Given the description of an element on the screen output the (x, y) to click on. 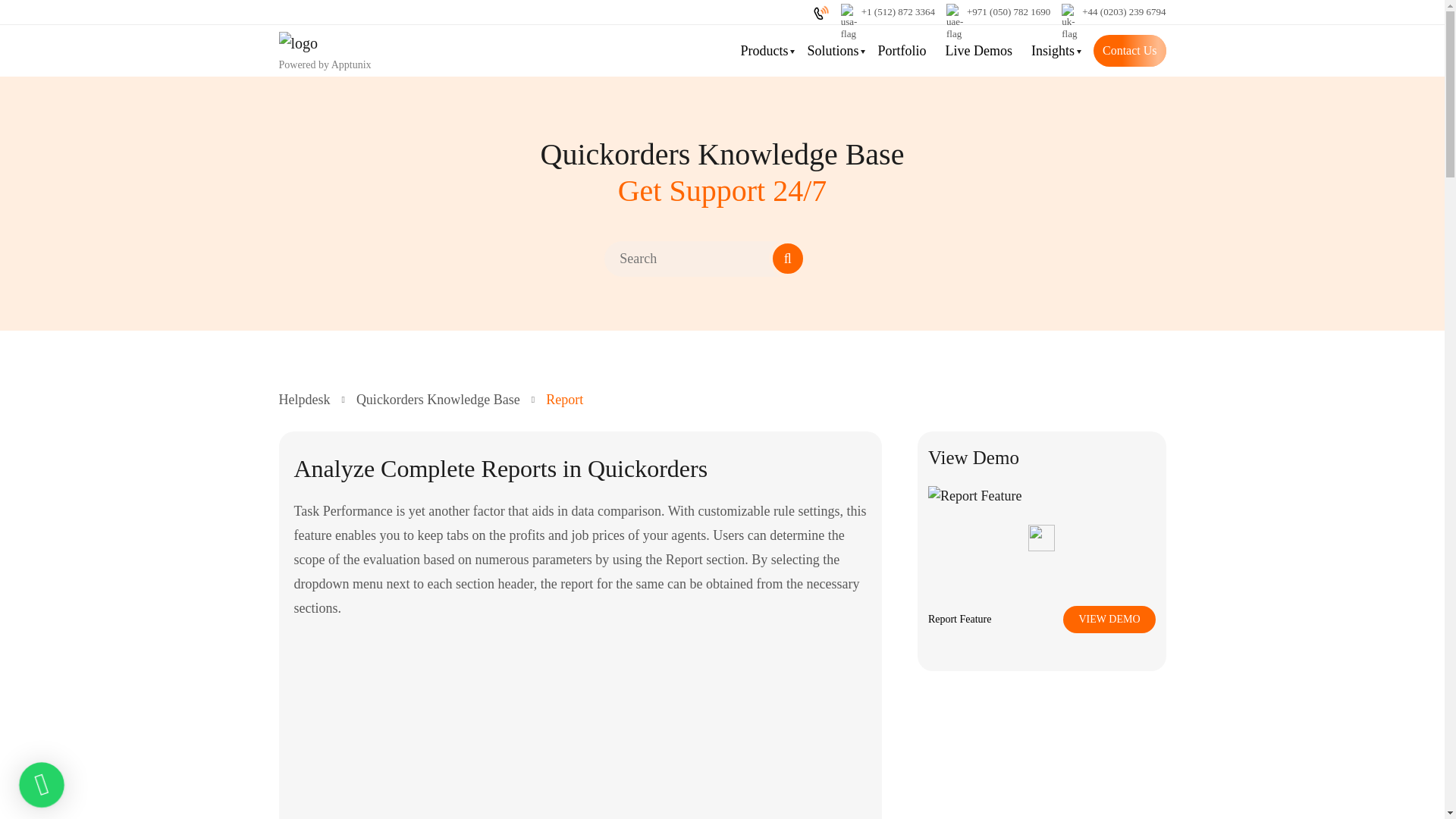
Powered by Apptunix (325, 50)
Live Demos (977, 50)
Solutions (832, 50)
VIEW DEMO (1108, 619)
Contact Us (1129, 50)
Portfolio (901, 50)
Insights (1052, 50)
Quickorders Knowledge Base (437, 399)
Products (763, 50)
Helpdesk (304, 399)
